Given the description of an element on the screen output the (x, y) to click on. 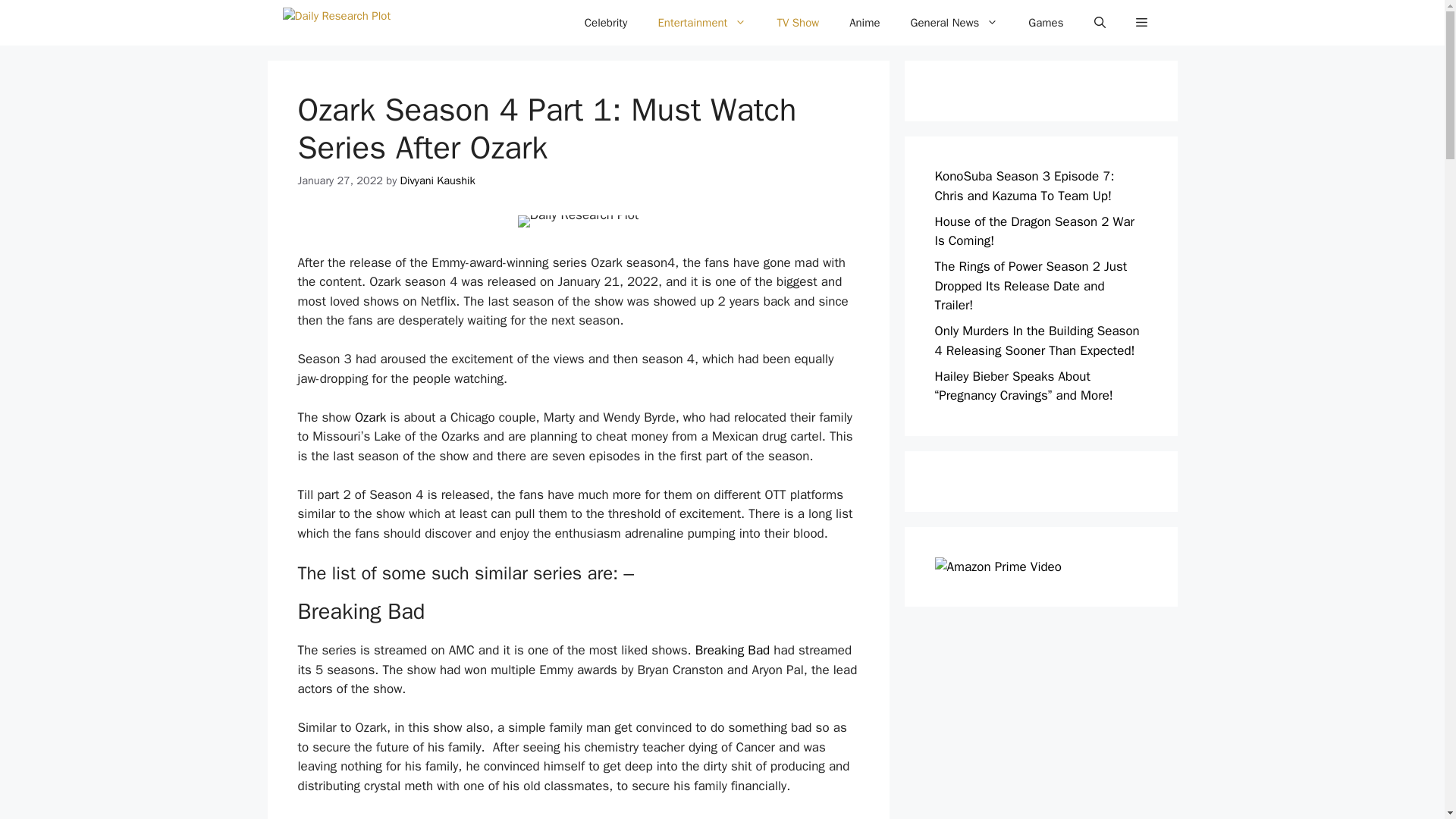
View all posts by Divyani Kaushik (438, 180)
TV Show (797, 22)
Anime (864, 22)
General News (954, 22)
Daily Research Plot (336, 22)
Entertainment (701, 22)
Celebrity (606, 22)
Divyani Kaushik (438, 180)
Games (1045, 22)
